Given the description of an element on the screen output the (x, y) to click on. 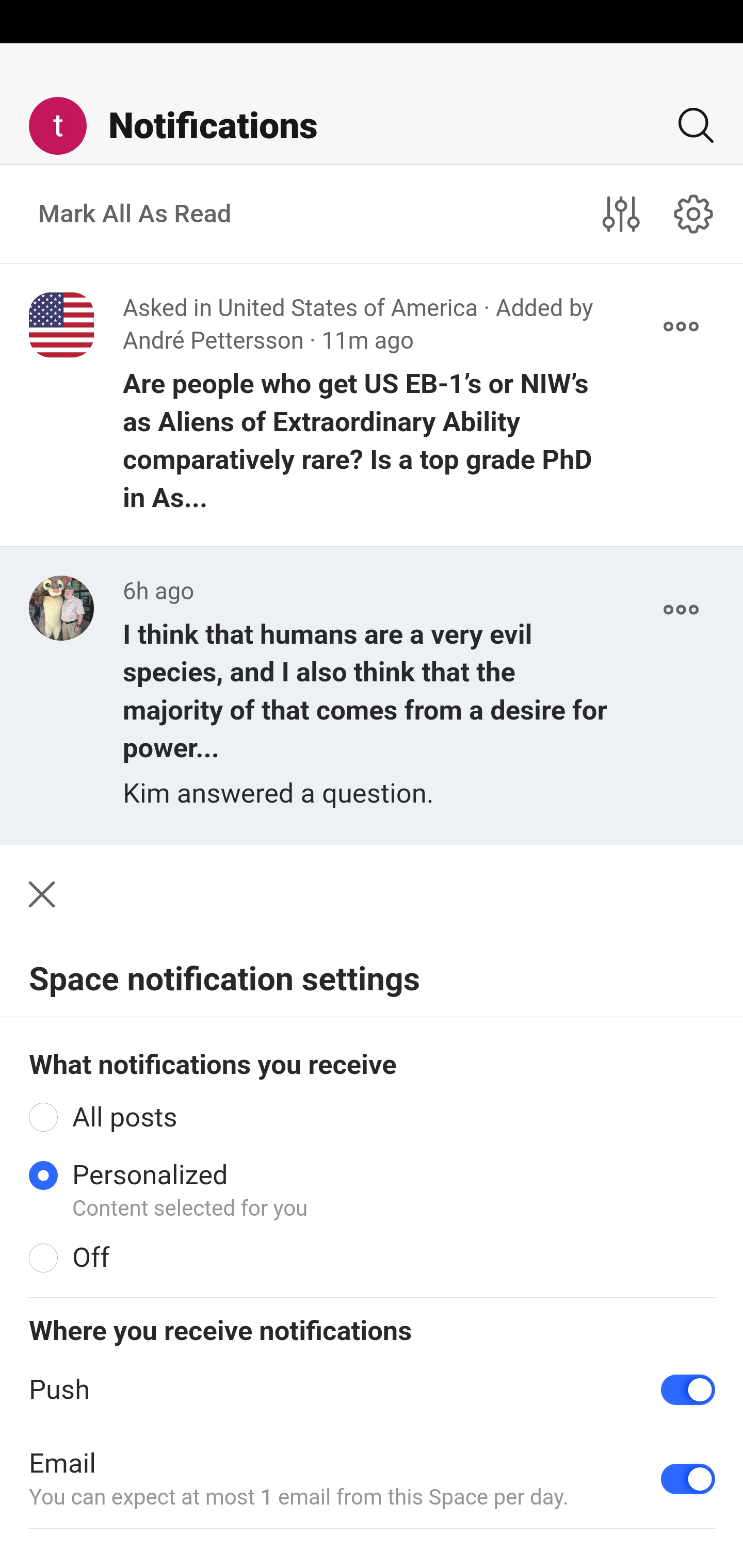
Me (64, 125)
Search (688, 124)
Mark All As Read (135, 213)
notifications# (693, 212)
More (681, 326)
More (681, 609)
More (681, 1381)
